Given the description of an element on the screen output the (x, y) to click on. 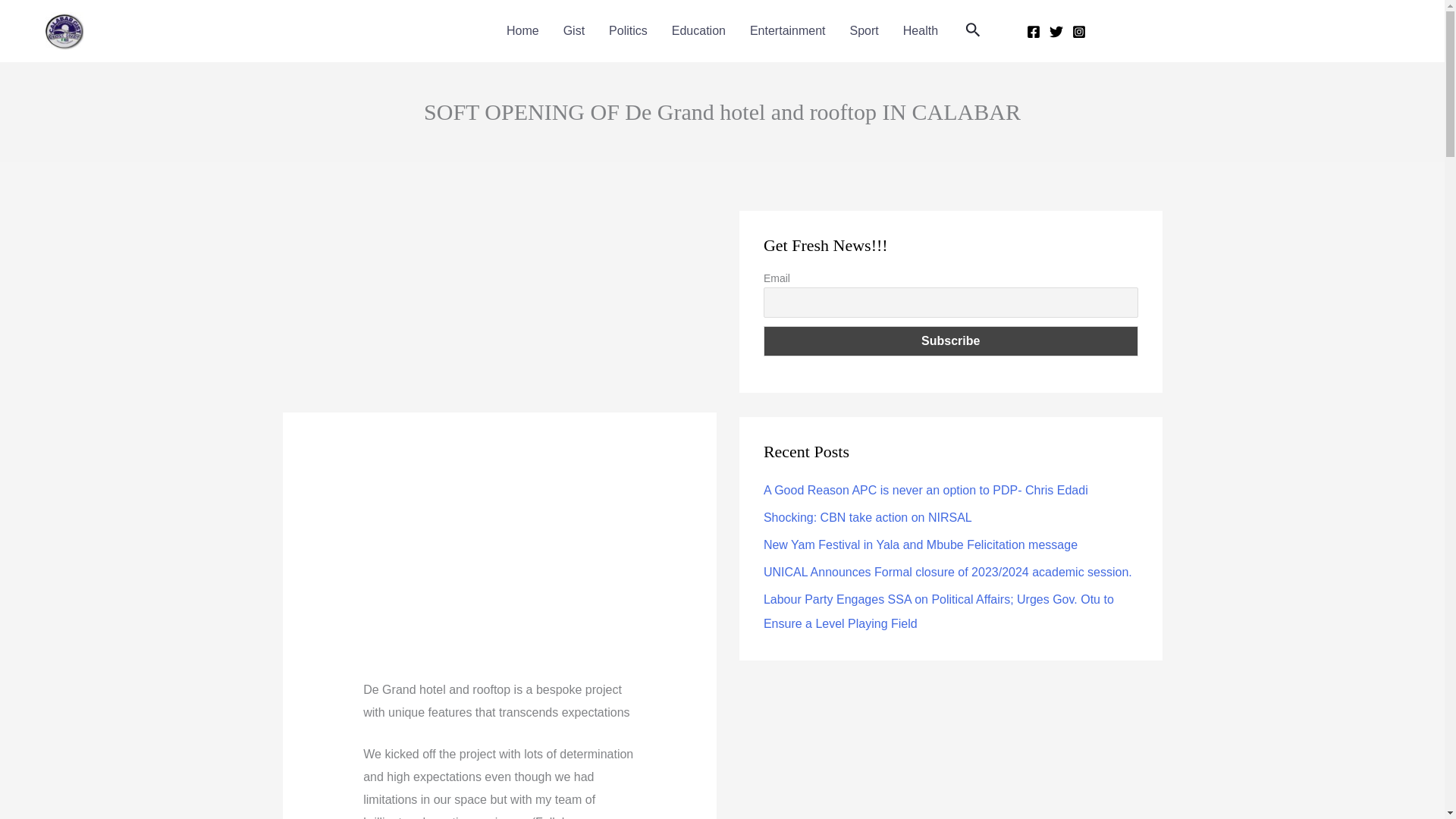
Home (523, 30)
Shocking: CBN take action on NIRSAL (867, 517)
Entertainment (788, 30)
New Yam Festival in Yala and Mbube Felicitation message (919, 544)
Education (698, 30)
Subscribe (950, 340)
Gist (573, 30)
Politics (627, 30)
Health (920, 30)
